Given the description of an element on the screen output the (x, y) to click on. 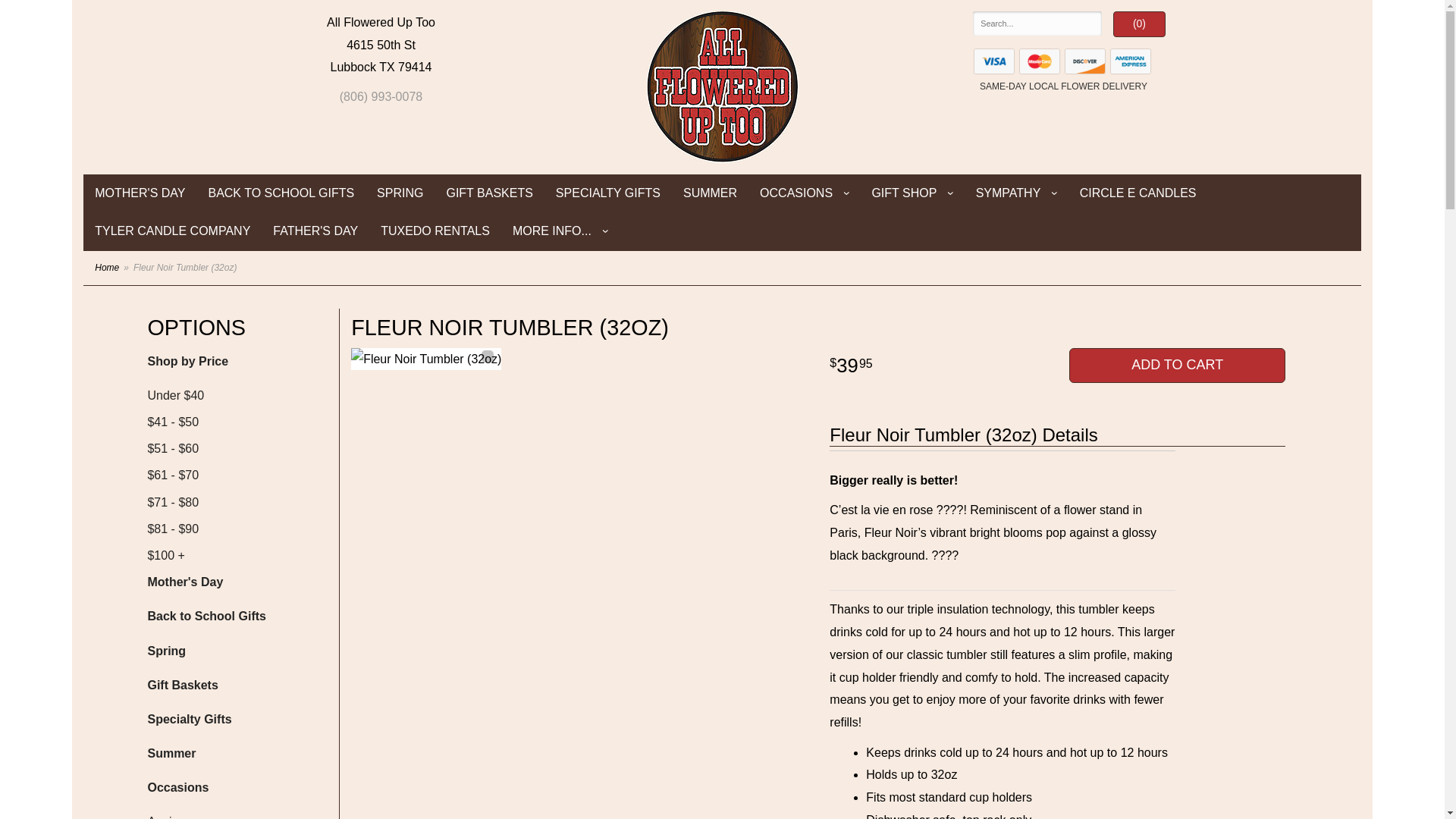
BACK TO SCHOOL GIFTS (280, 193)
SUMMER (709, 193)
GIFT SHOP (911, 193)
OCCASIONS (804, 193)
SPECIALTY GIFTS (607, 193)
SPRING (399, 193)
GIFT BASKETS (488, 193)
SYMPATHY (1015, 193)
MOTHER'S DAY (139, 193)
